Given the description of an element on the screen output the (x, y) to click on. 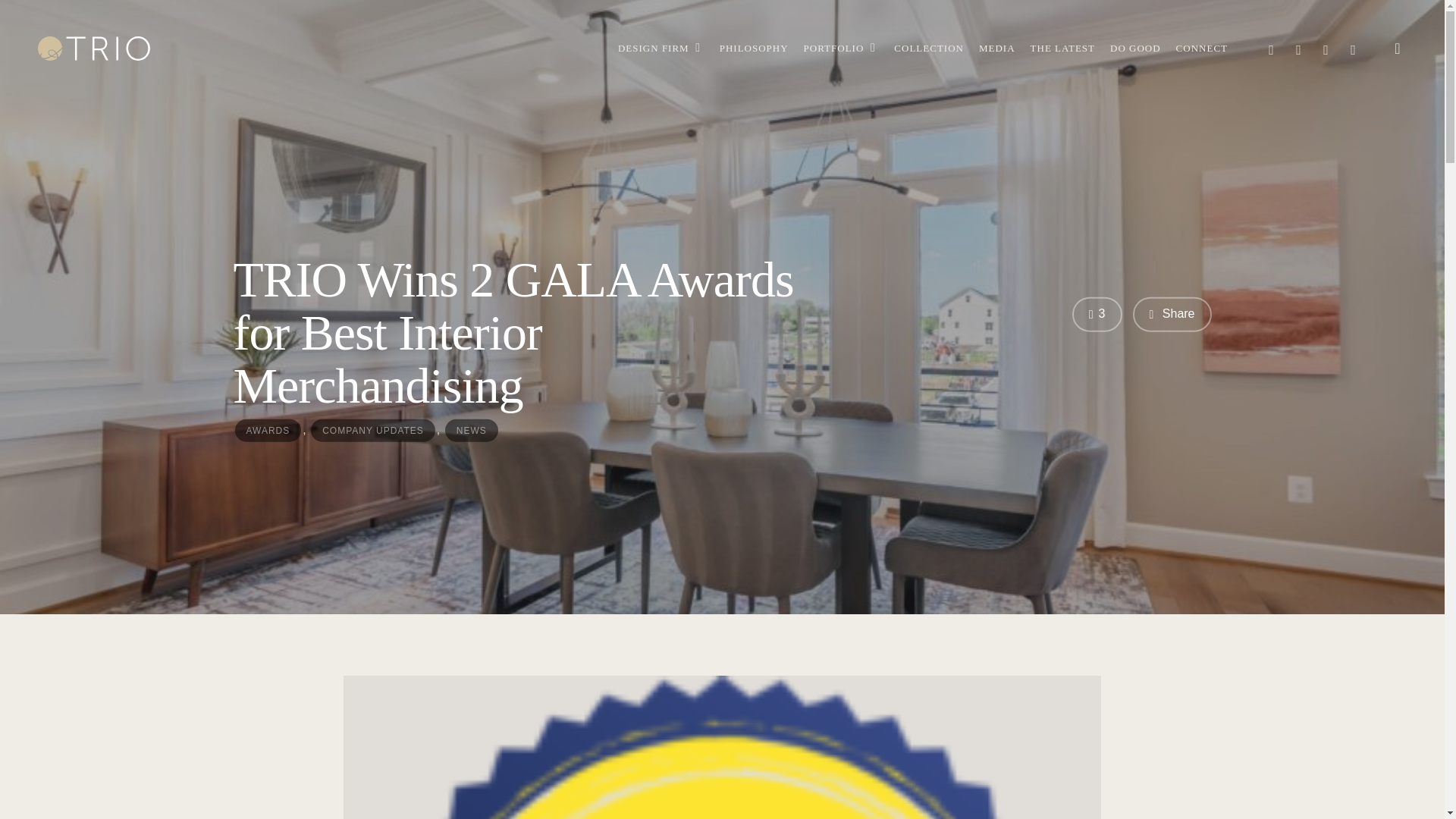
DO GOOD (1134, 48)
COLLECTION (928, 48)
NEWS (471, 429)
THE LATEST (1062, 48)
COMPANY UPDATES (373, 429)
search (1397, 48)
PHILOSOPHY (754, 48)
VIMEO (1299, 47)
DESIGN FIRM (660, 48)
FACEBOOK (1271, 47)
AWARDS (267, 429)
MEDIA (996, 48)
PORTFOLIO (841, 48)
3 (1096, 314)
CONNECT (1201, 48)
